Given the description of an element on the screen output the (x, y) to click on. 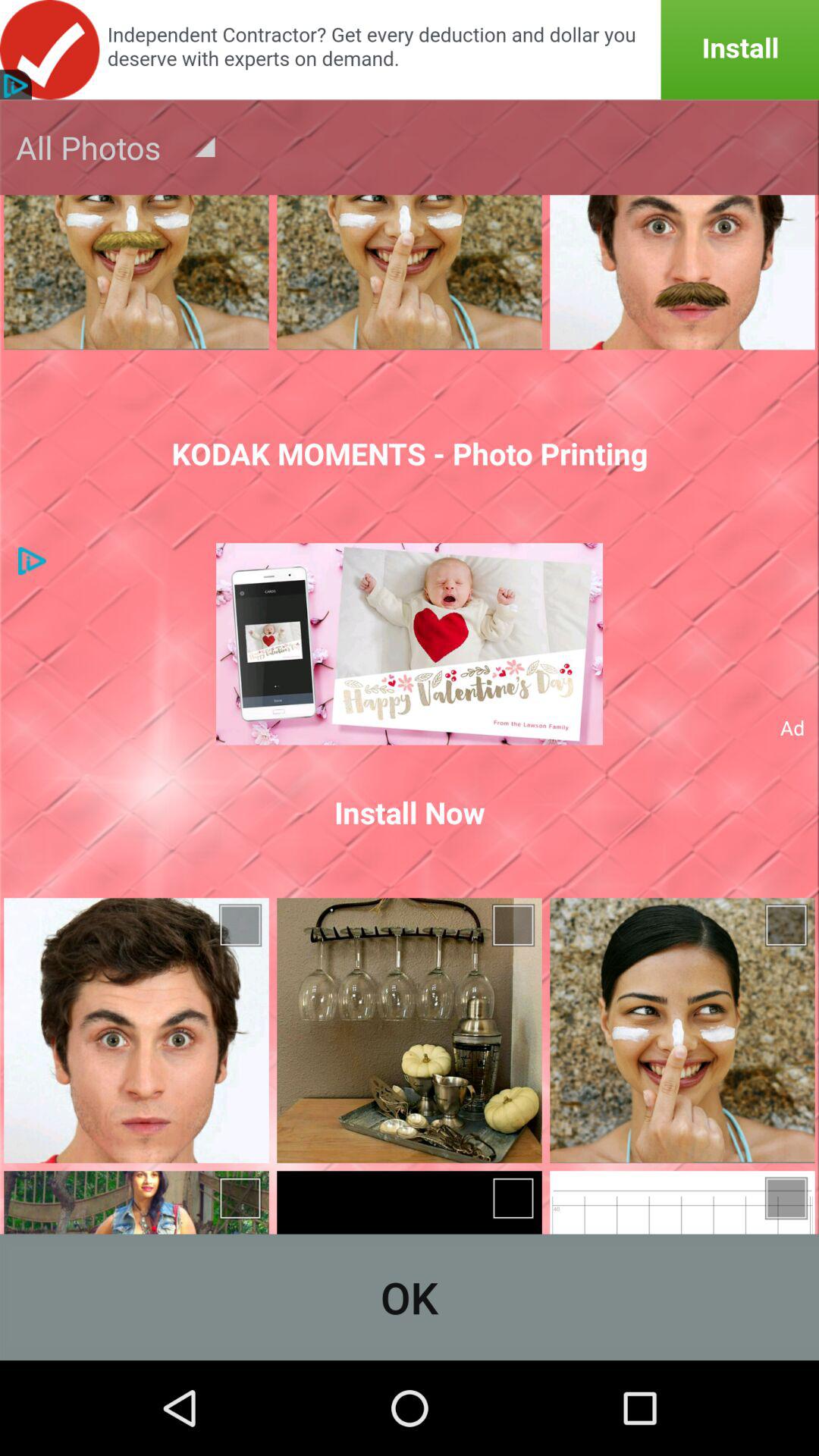
turn on kodak moments photo icon (409, 453)
